Given the description of an element on the screen output the (x, y) to click on. 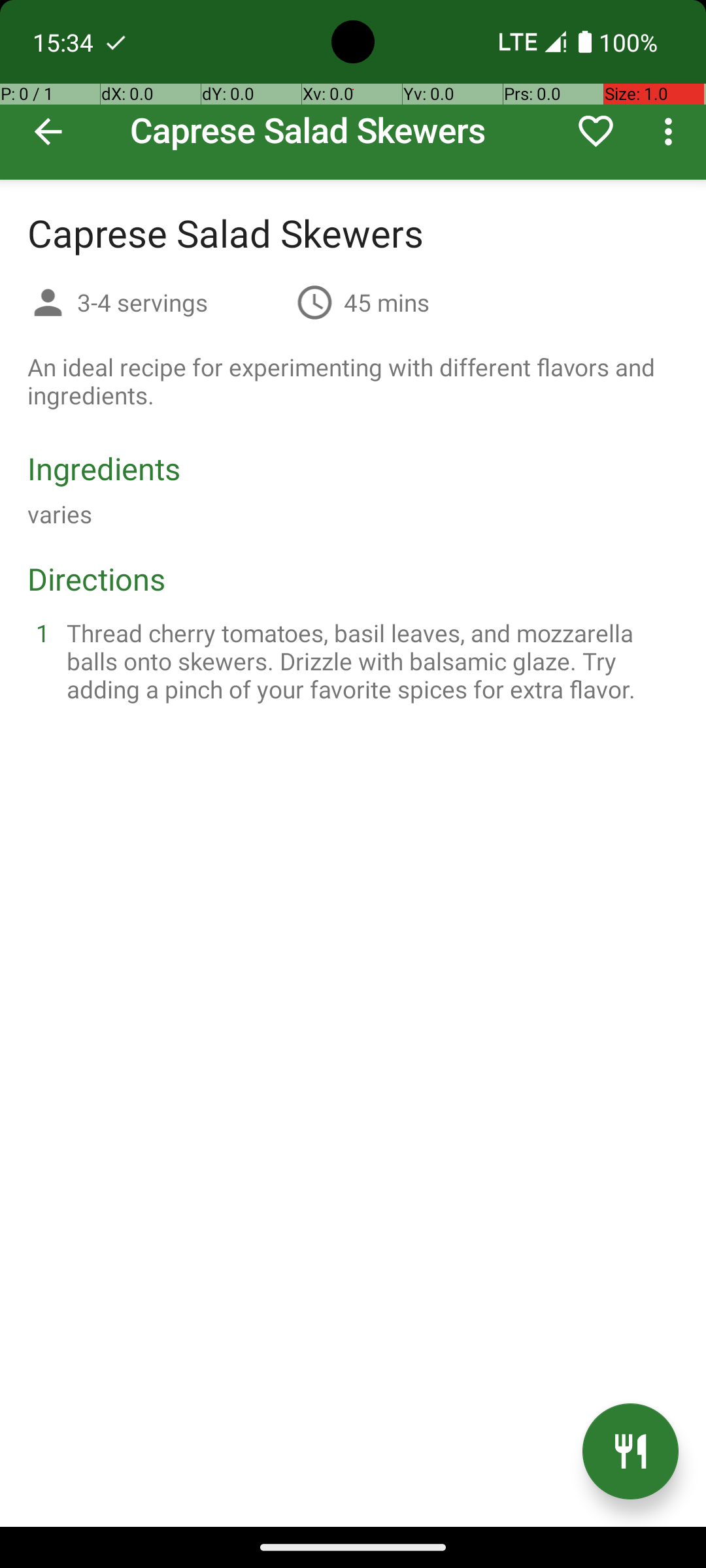
varies Element type: android.widget.TextView (59, 513)
Thread cherry tomatoes, basil leaves, and mozzarella balls onto skewers. Drizzle with balsamic glaze. Try adding a pinch of your favorite spices for extra flavor. Element type: android.widget.TextView (368, 660)
